Given the description of an element on the screen output the (x, y) to click on. 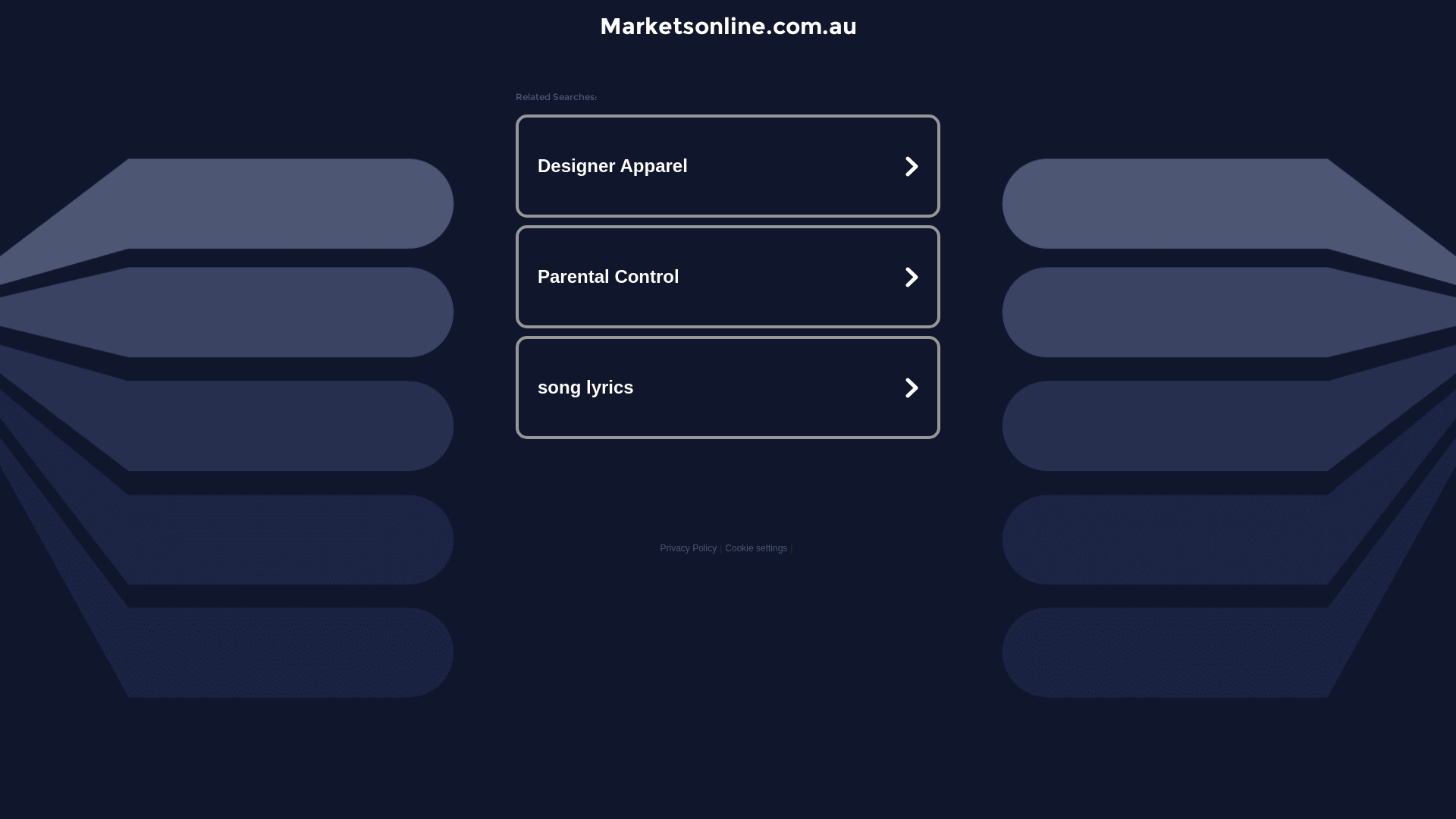
Designer Apparel Element type: text (727, 165)
Parental Control Element type: text (727, 276)
Marketsonline.com.au Element type: text (727, 26)
Privacy Policy Element type: text (687, 547)
Cookie settings Element type: text (755, 547)
song lyrics Element type: text (727, 387)
